Given the description of an element on the screen output the (x, y) to click on. 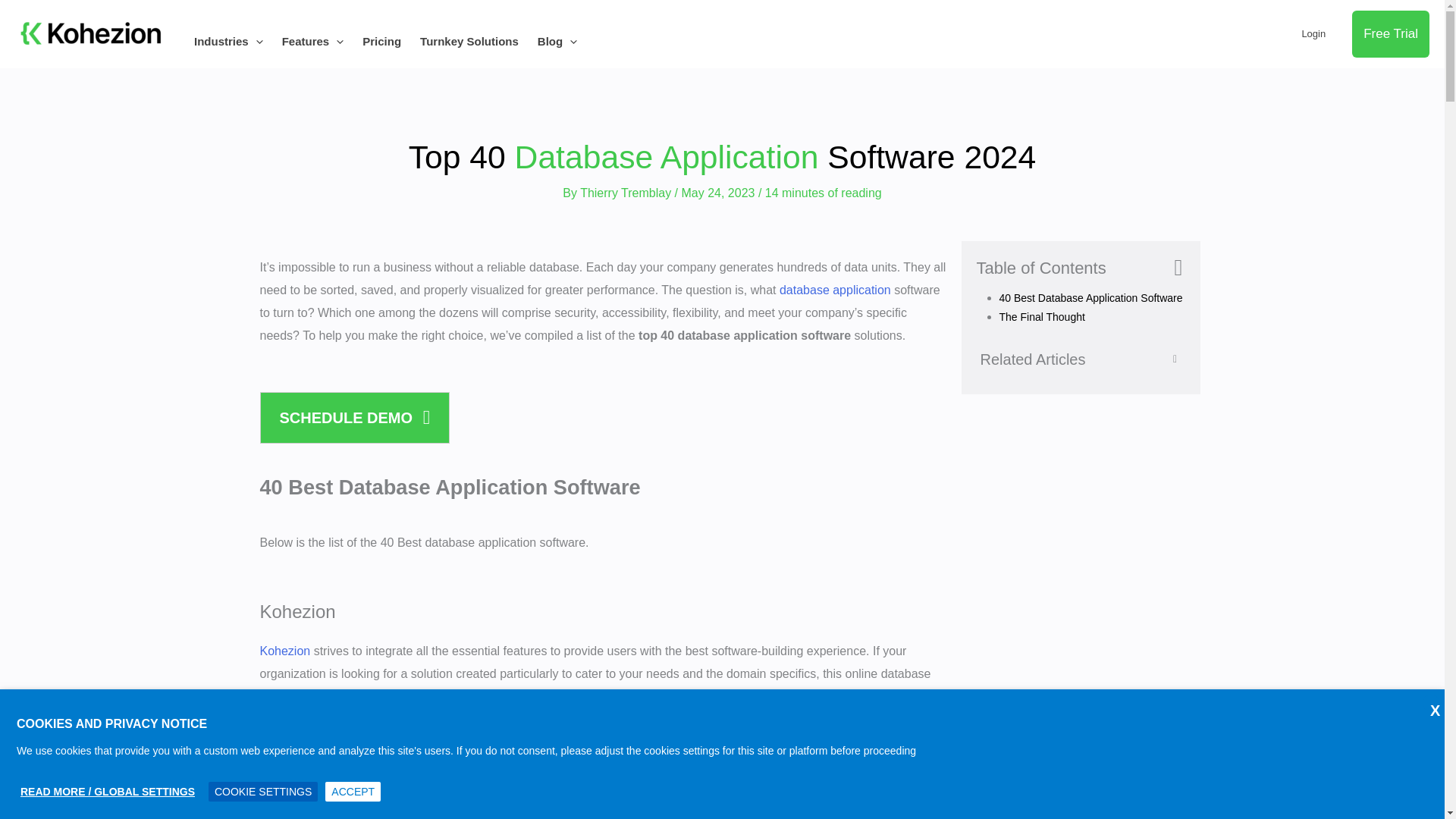
Pricing (391, 41)
Features (322, 41)
View all posts by Thierry Tremblay (626, 192)
Blog (566, 41)
Turnkey Solutions (478, 41)
YouTube video player (471, 793)
Free Trial (1390, 33)
Close and Accept (1430, 702)
Login (1313, 33)
Industries (237, 41)
